Given the description of an element on the screen output the (x, y) to click on. 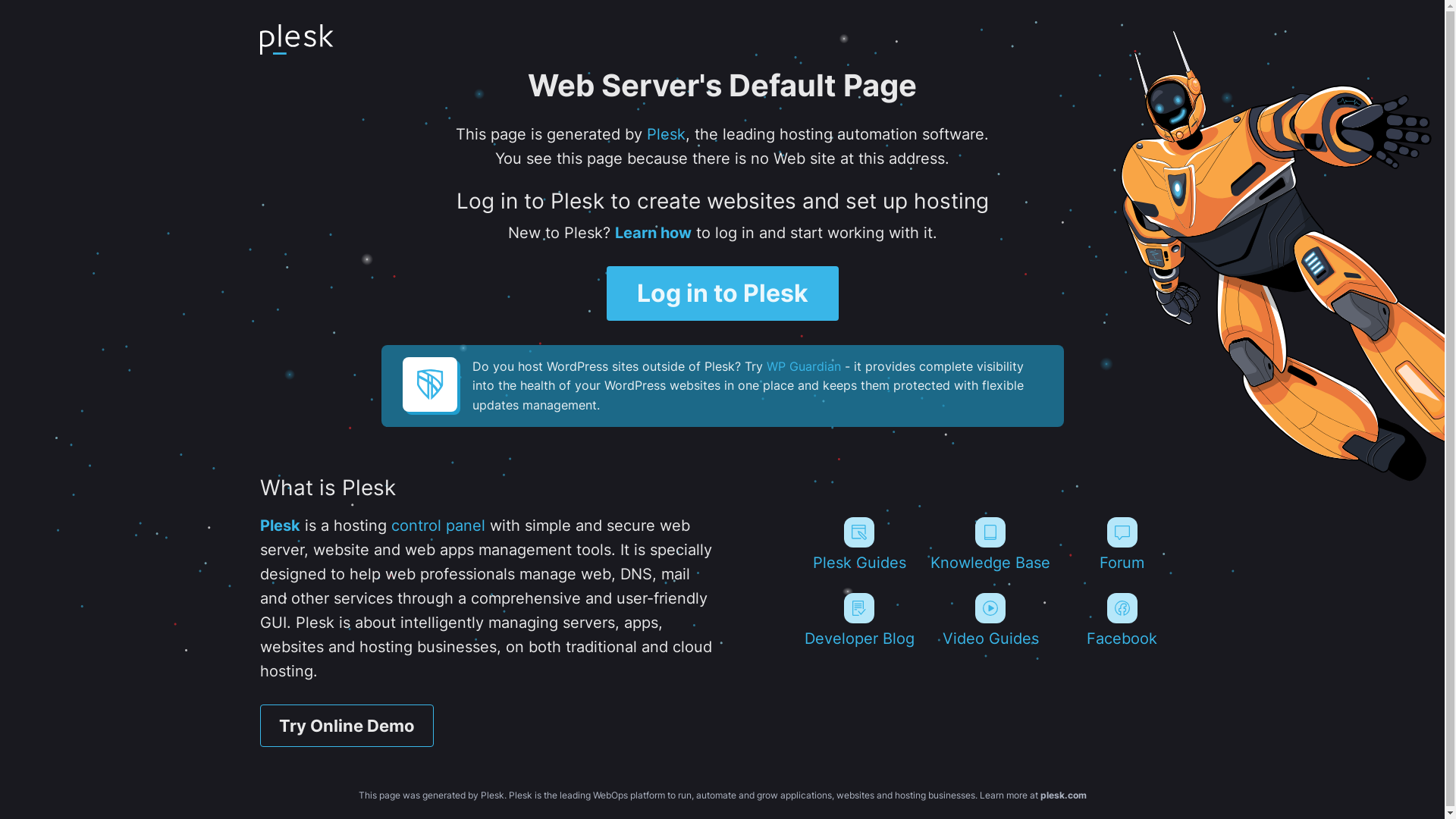
Developer Blog Element type: text (858, 620)
Plesk Element type: text (279, 525)
Learn how Element type: text (652, 232)
Plesk Element type: text (665, 134)
Log in to Plesk Element type: text (722, 293)
Try Online Demo Element type: text (346, 725)
control panel Element type: text (438, 525)
Facebook Element type: text (1121, 620)
Knowledge Base Element type: text (990, 544)
Video Guides Element type: text (990, 620)
Plesk Guides Element type: text (858, 544)
plesk.com Element type: text (1063, 794)
Forum Element type: text (1121, 544)
WP Guardian Element type: text (802, 365)
